Given the description of an element on the screen output the (x, y) to click on. 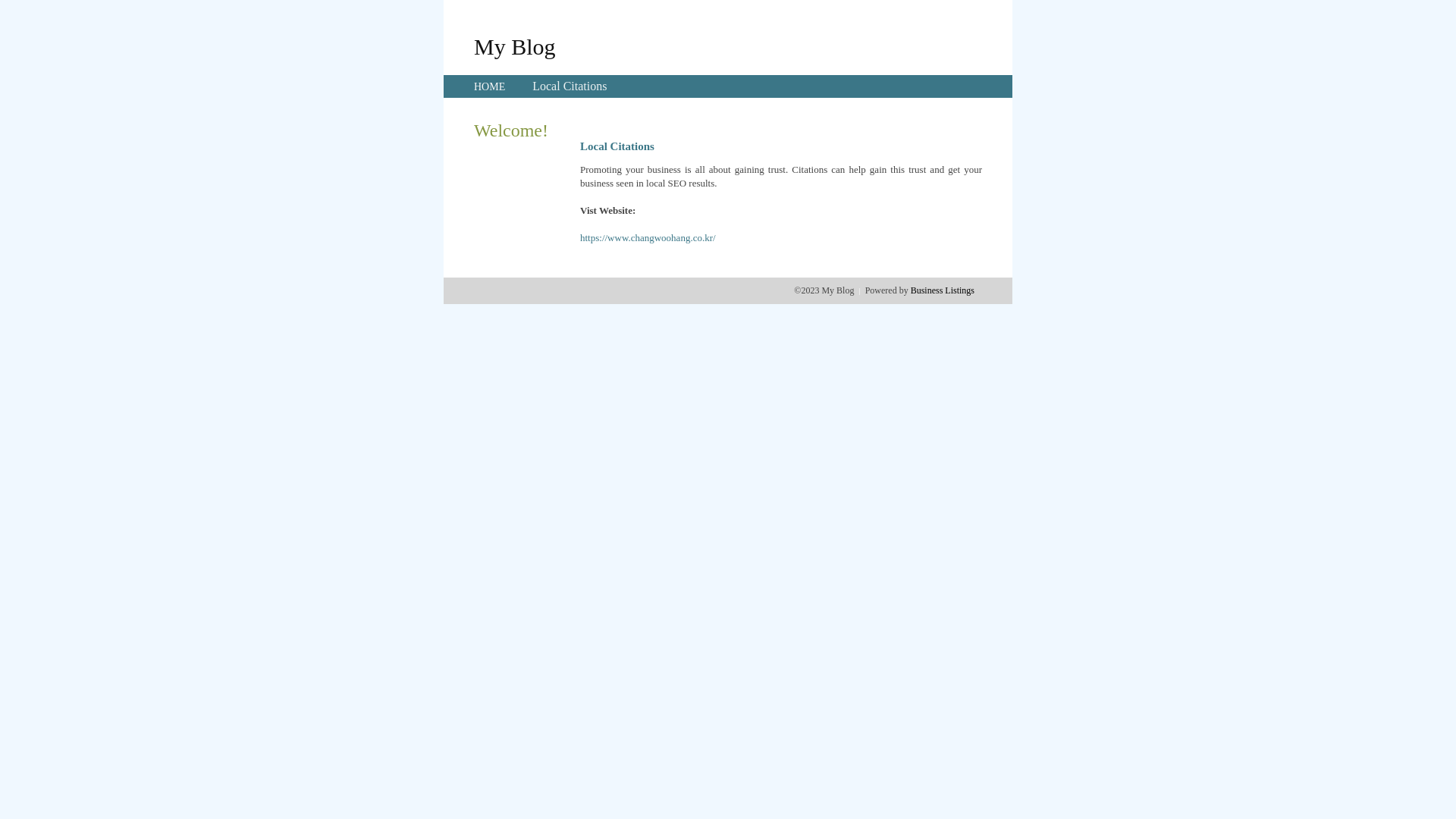
HOME Element type: text (489, 86)
My Blog Element type: text (514, 46)
Business Listings Element type: text (942, 290)
https://www.changwoohang.co.kr/ Element type: text (647, 237)
Local Citations Element type: text (569, 85)
